Given the description of an element on the screen output the (x, y) to click on. 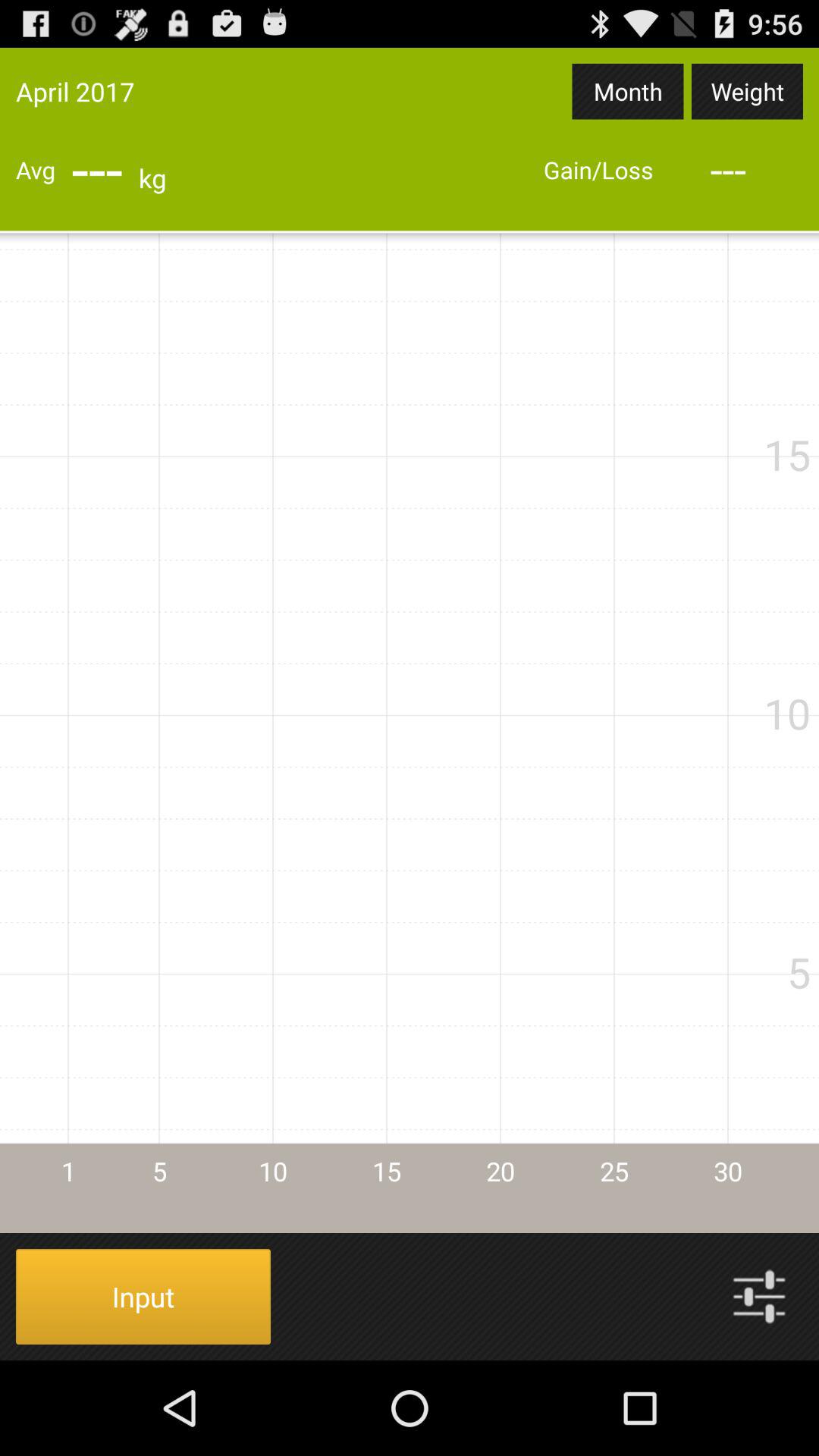
turn off app next to the weight app (627, 91)
